Given the description of an element on the screen output the (x, y) to click on. 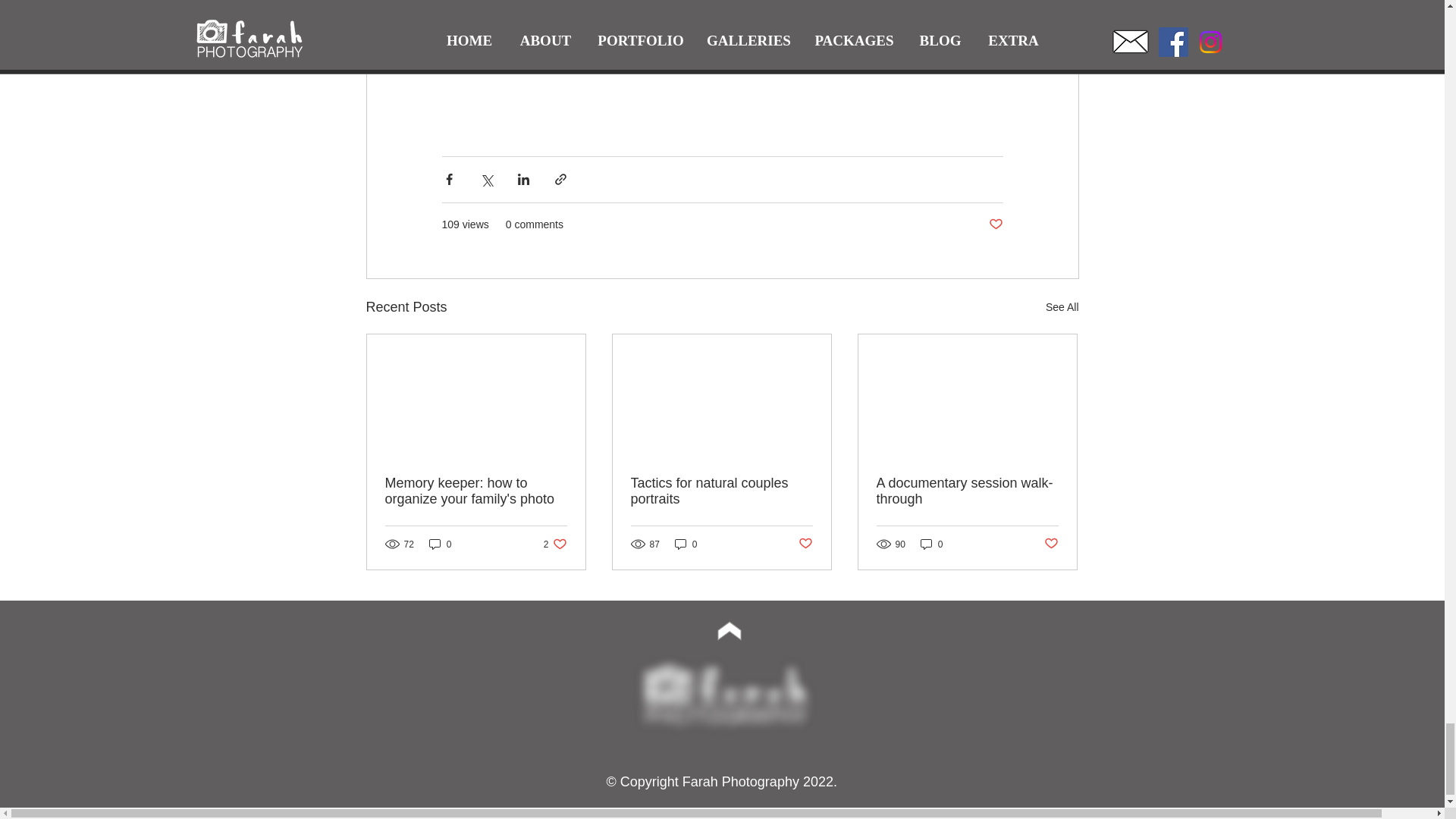
Post not marked as liked (995, 224)
Post not marked as liked (804, 544)
0 (440, 544)
0 (685, 544)
A documentary session walk-through (967, 490)
Memory keeper: how to organize your family's photo (476, 490)
Tactics for natural couples portraits (721, 490)
Post not marked as liked (1050, 544)
See All (555, 544)
